Given the description of an element on the screen output the (x, y) to click on. 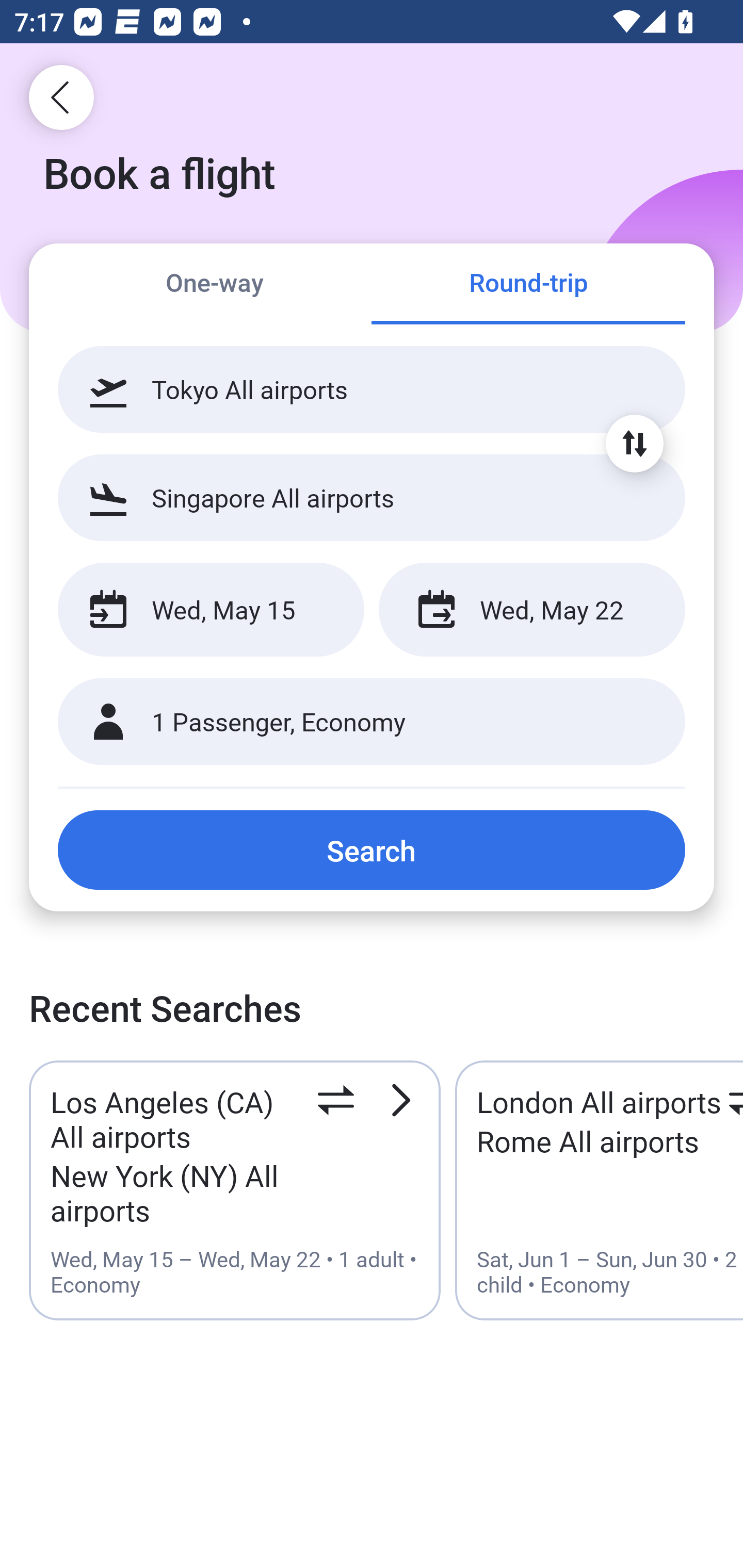
One-way (214, 284)
Tokyo All airports (371, 389)
Singapore All airports (371, 497)
Wed, May 15 (210, 609)
Wed, May 22 (531, 609)
1 Passenger, Economy (371, 721)
Search (371, 849)
